Given the description of an element on the screen output the (x, y) to click on. 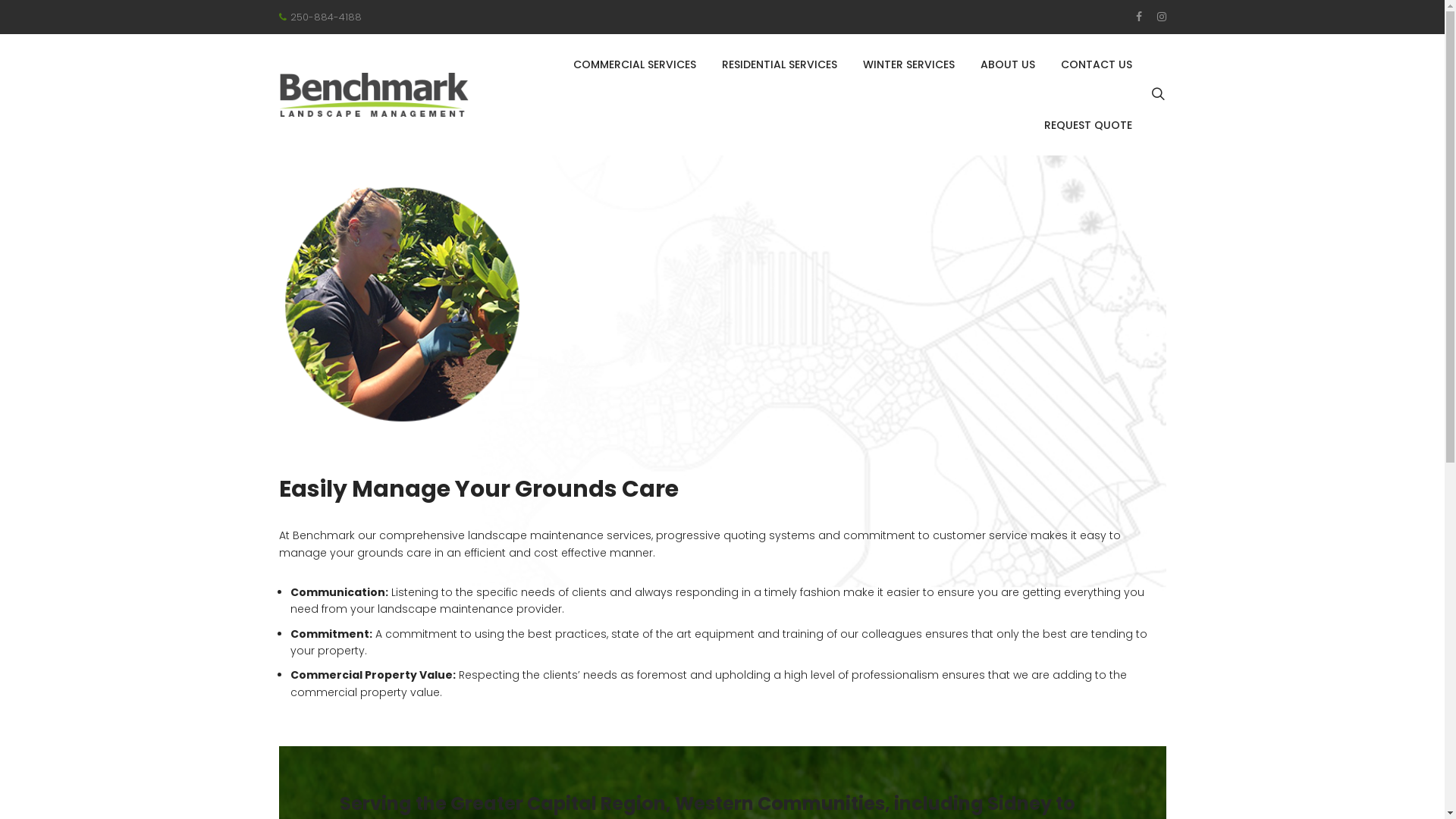
Benchmark Landscape Management Element type: hover (373, 93)
RESIDENTIAL SERVICES Element type: text (779, 64)
ABOUT US Element type: text (1006, 64)
Instagram Element type: hover (1161, 16)
CONTACT US Element type: text (1095, 64)
Toggle Search block Element type: hover (1158, 94)
COMMERCIAL SERVICES Element type: text (634, 64)
WINTER SERVICES Element type: text (908, 64)
REQUEST QUOTE Element type: text (1087, 125)
Facebook Element type: hover (1138, 16)
